Given the description of an element on the screen output the (x, y) to click on. 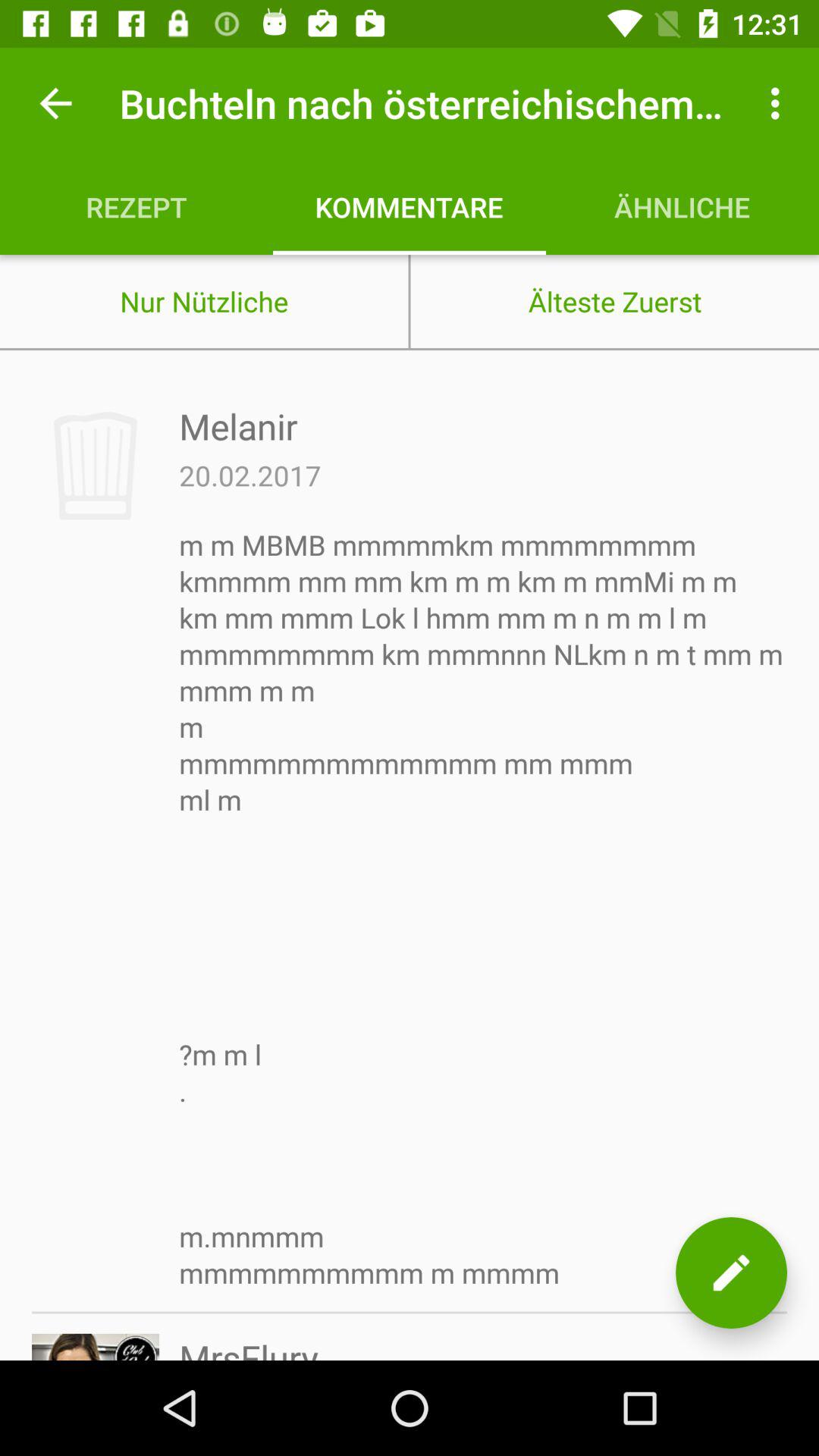
choose the item below the 20.02.2017 icon (483, 908)
